Given the description of an element on the screen output the (x, y) to click on. 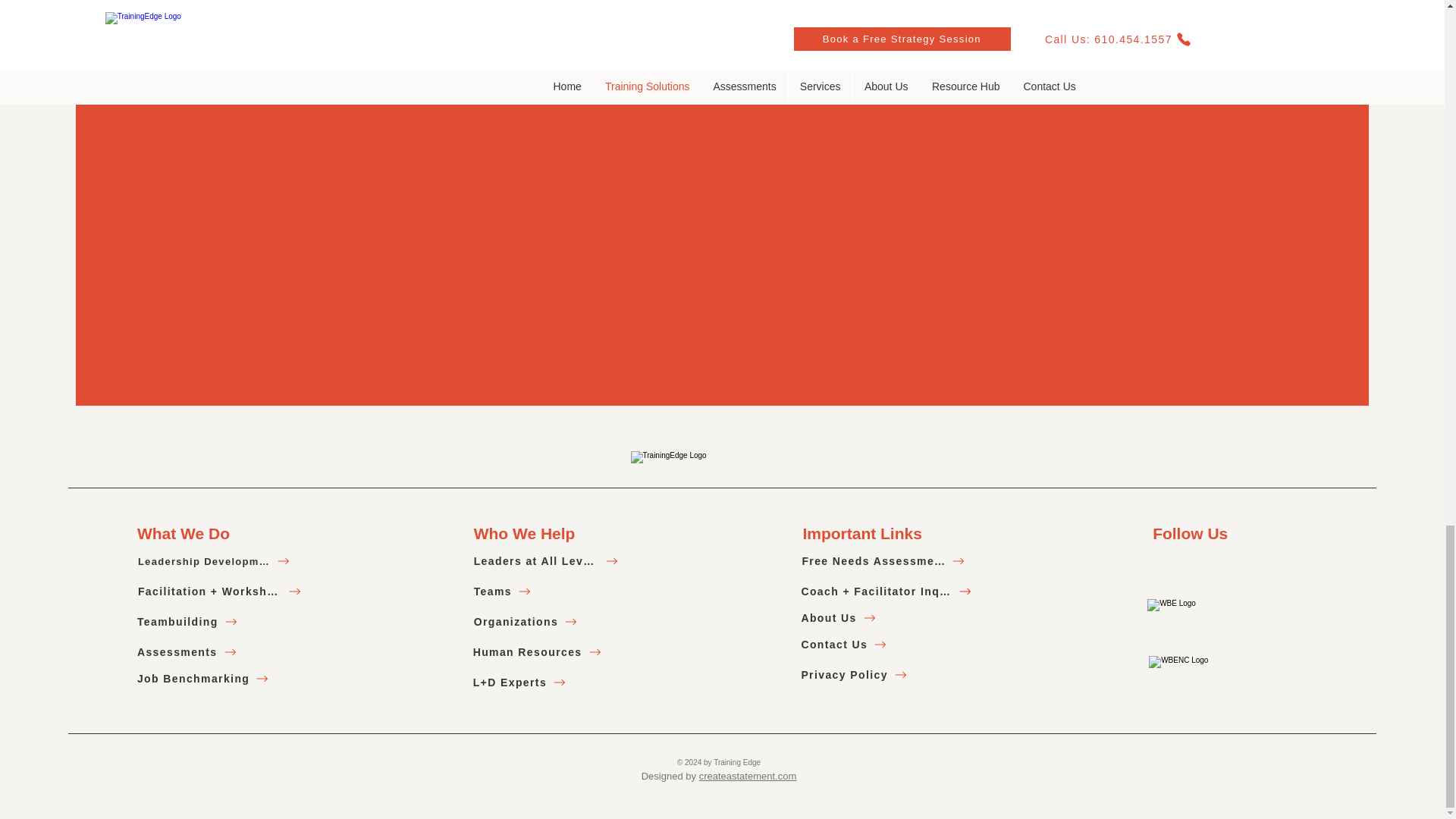
Leadership Development (213, 561)
Job Benchmarking (212, 679)
Leaders at All Levels (546, 561)
Teambuilding (212, 621)
Human Resources (545, 652)
Assessments (212, 652)
Teams (546, 591)
Organizations (546, 621)
